Given the description of an element on the screen output the (x, y) to click on. 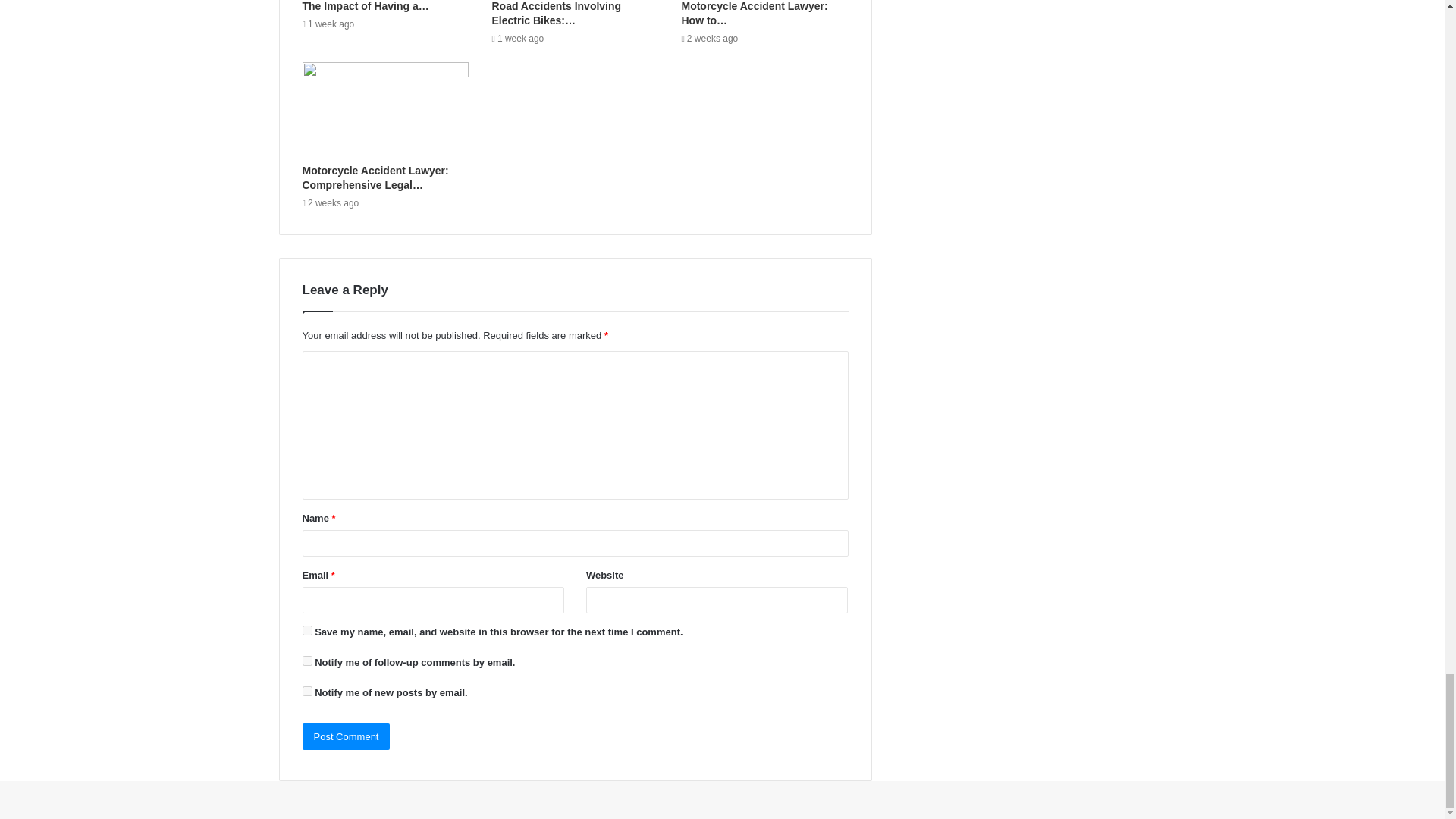
subscribe (306, 660)
subscribe (306, 691)
yes (306, 630)
Post Comment (345, 736)
